Given the description of an element on the screen output the (x, y) to click on. 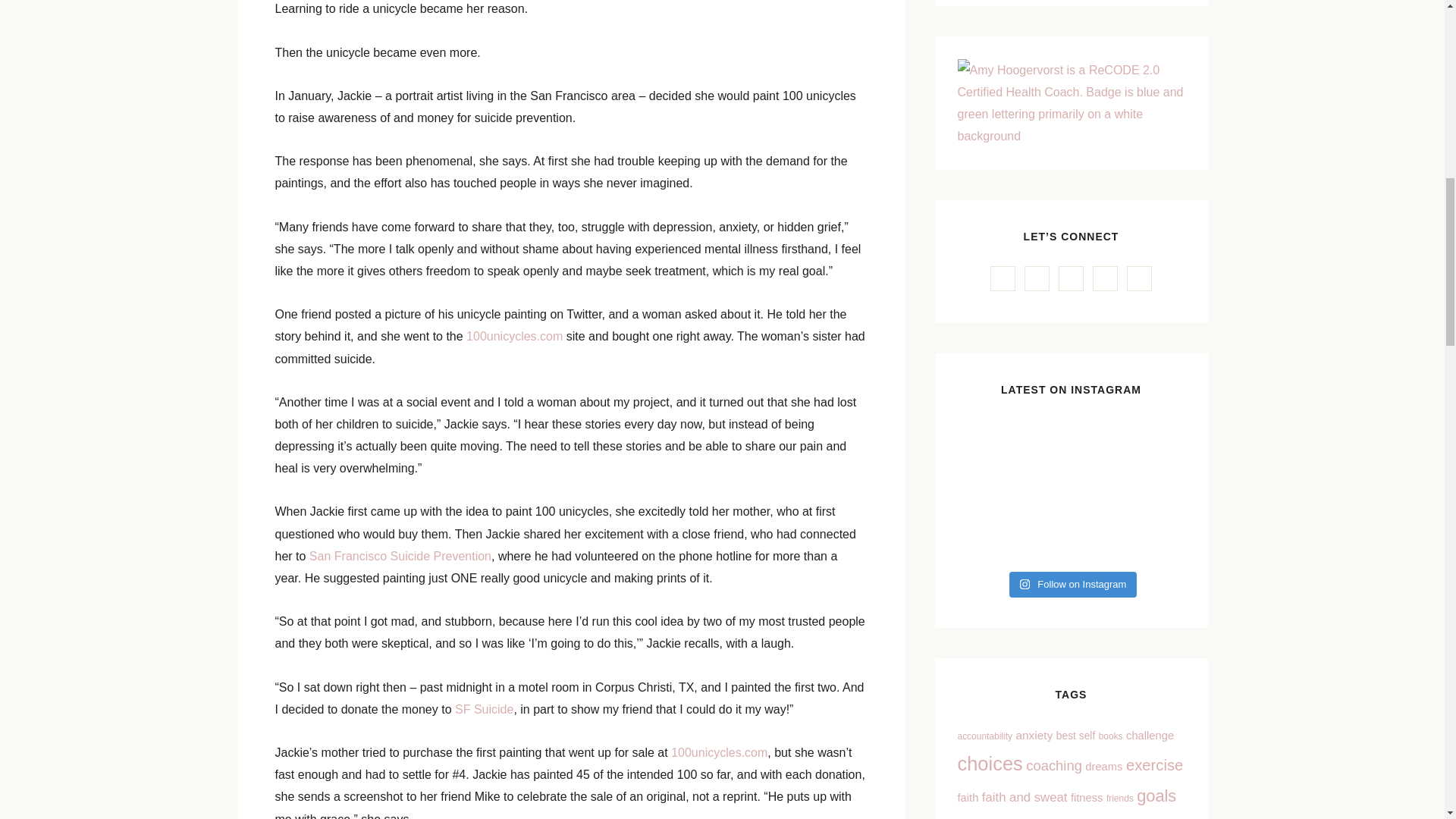
SF Suicide (483, 708)
100unicycles.com (719, 752)
100unicycles.com (513, 336)
San Francisco Suicide Prevention (400, 555)
